Given the description of an element on the screen output the (x, y) to click on. 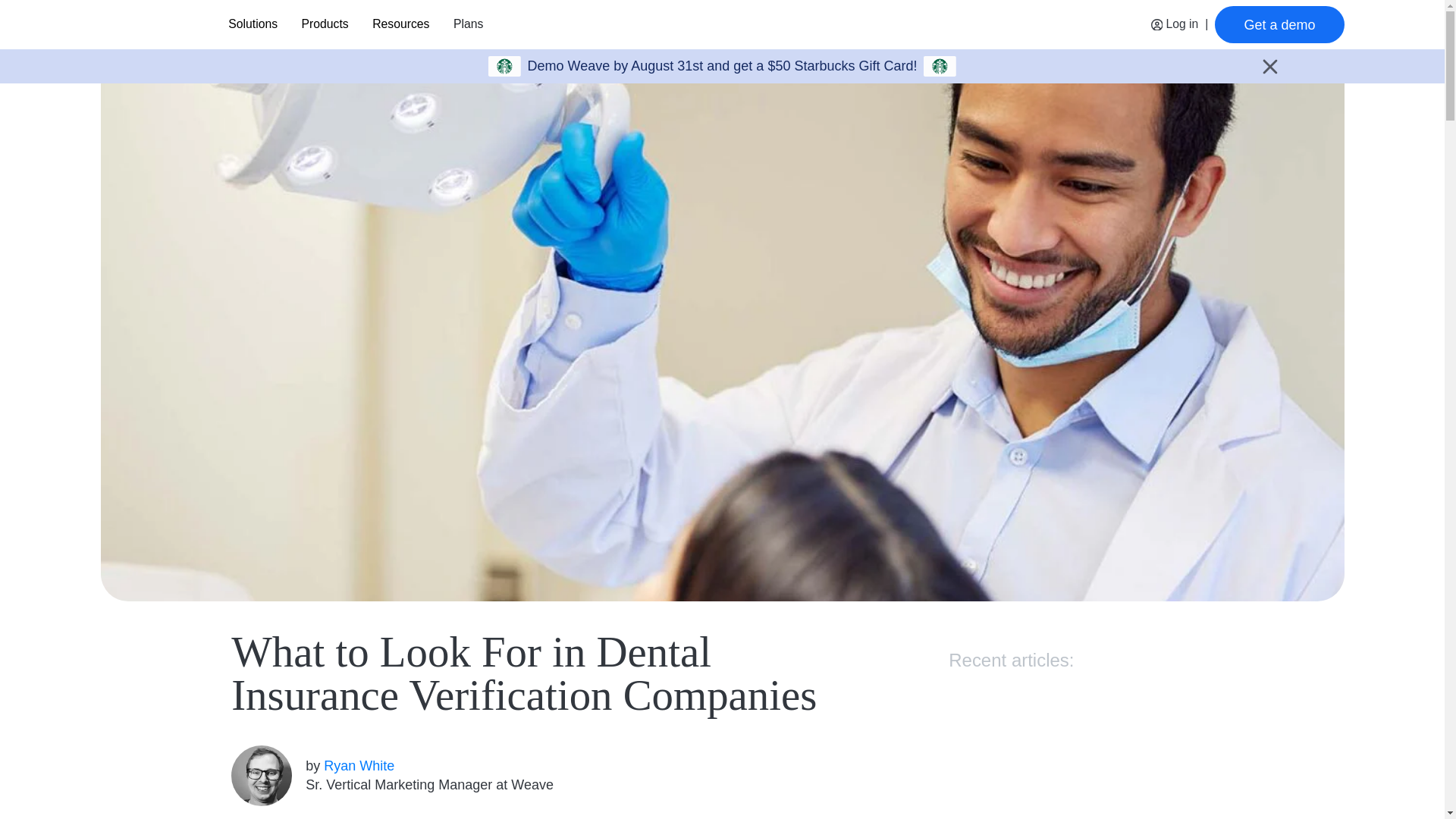
Get a demo (1278, 24)
Ryan White (358, 765)
Plans (468, 24)
Log in (1174, 23)
